Given the description of an element on the screen output the (x, y) to click on. 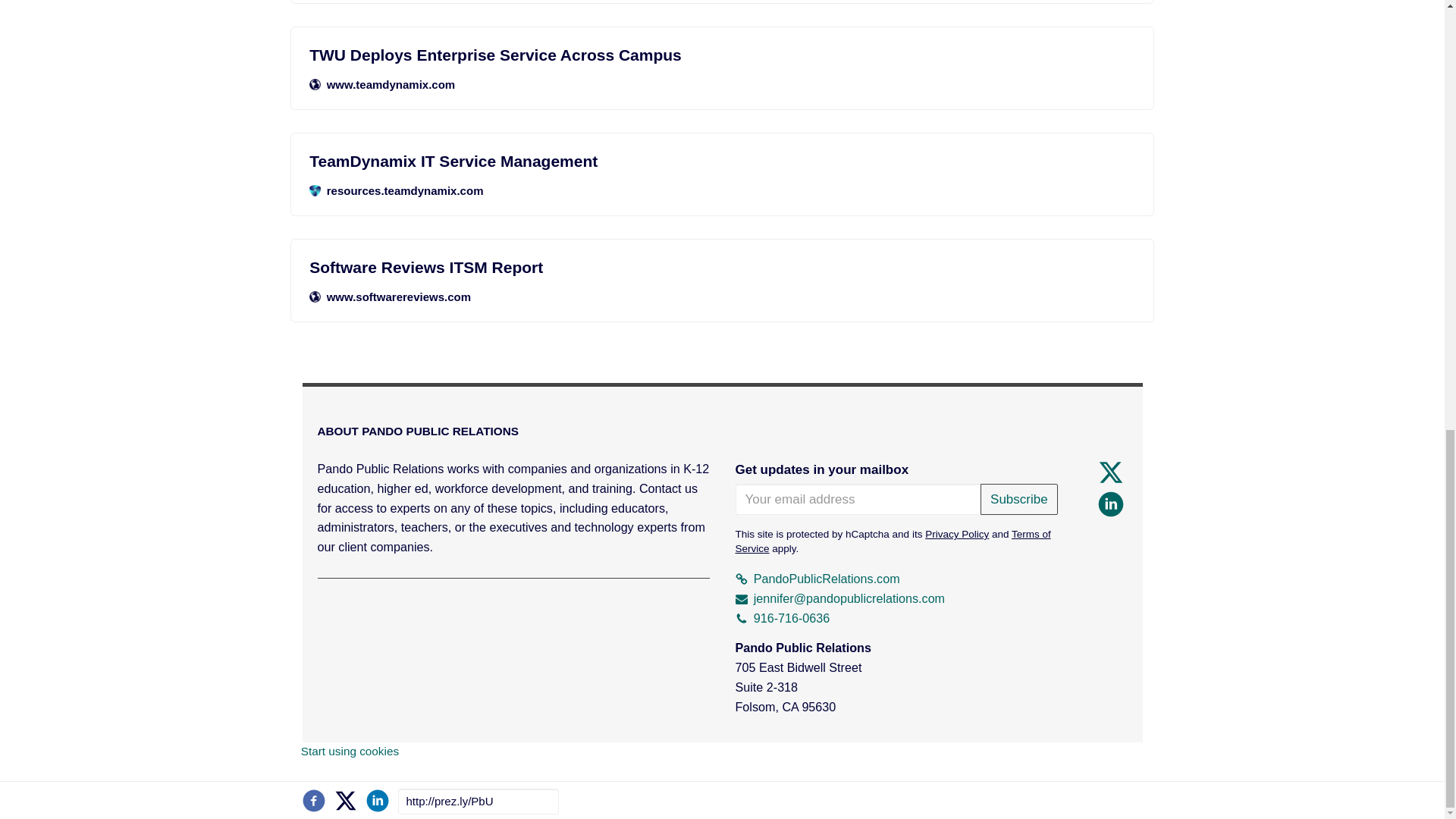
TWU Deploys Enterprise Service Across Campus (721, 54)
Start using cookies (349, 750)
Pando Public Relations Linkedin (1110, 503)
Privacy Policy (956, 533)
Subscribe (1018, 499)
Software Reviews ITSM Report (721, 267)
Pando Public Relations Twitter (1110, 472)
PandoPublicRelations.com (817, 578)
916-716-0636 (782, 617)
TeamDynamix IT Service Management (721, 161)
Terms of Service (893, 541)
www.teamdynamix.com (721, 85)
www.softwarereviews.com (721, 297)
PandoPublicRelations.com (817, 578)
resources.teamdynamix.com (721, 190)
